Given the description of an element on the screen output the (x, y) to click on. 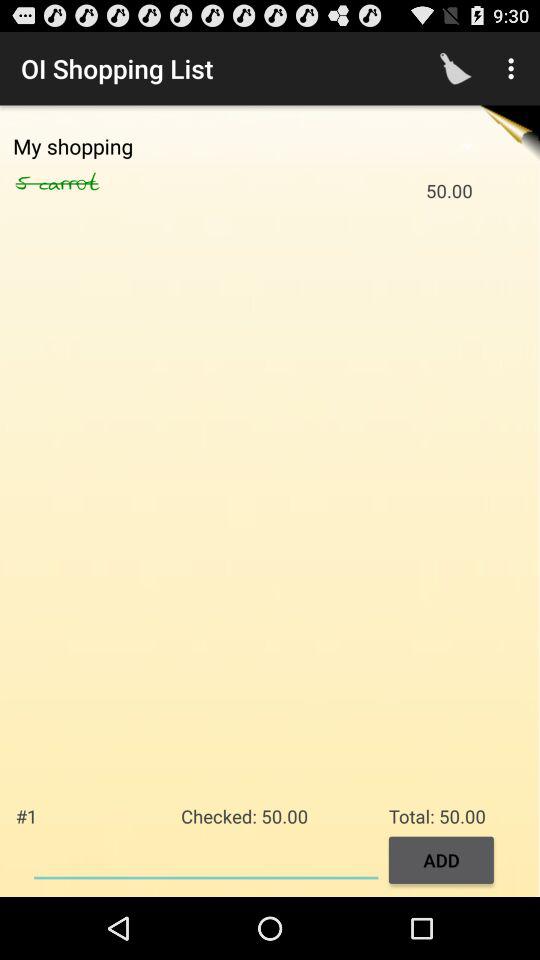
open the icon above the #1 item (90, 183)
